Given the description of an element on the screen output the (x, y) to click on. 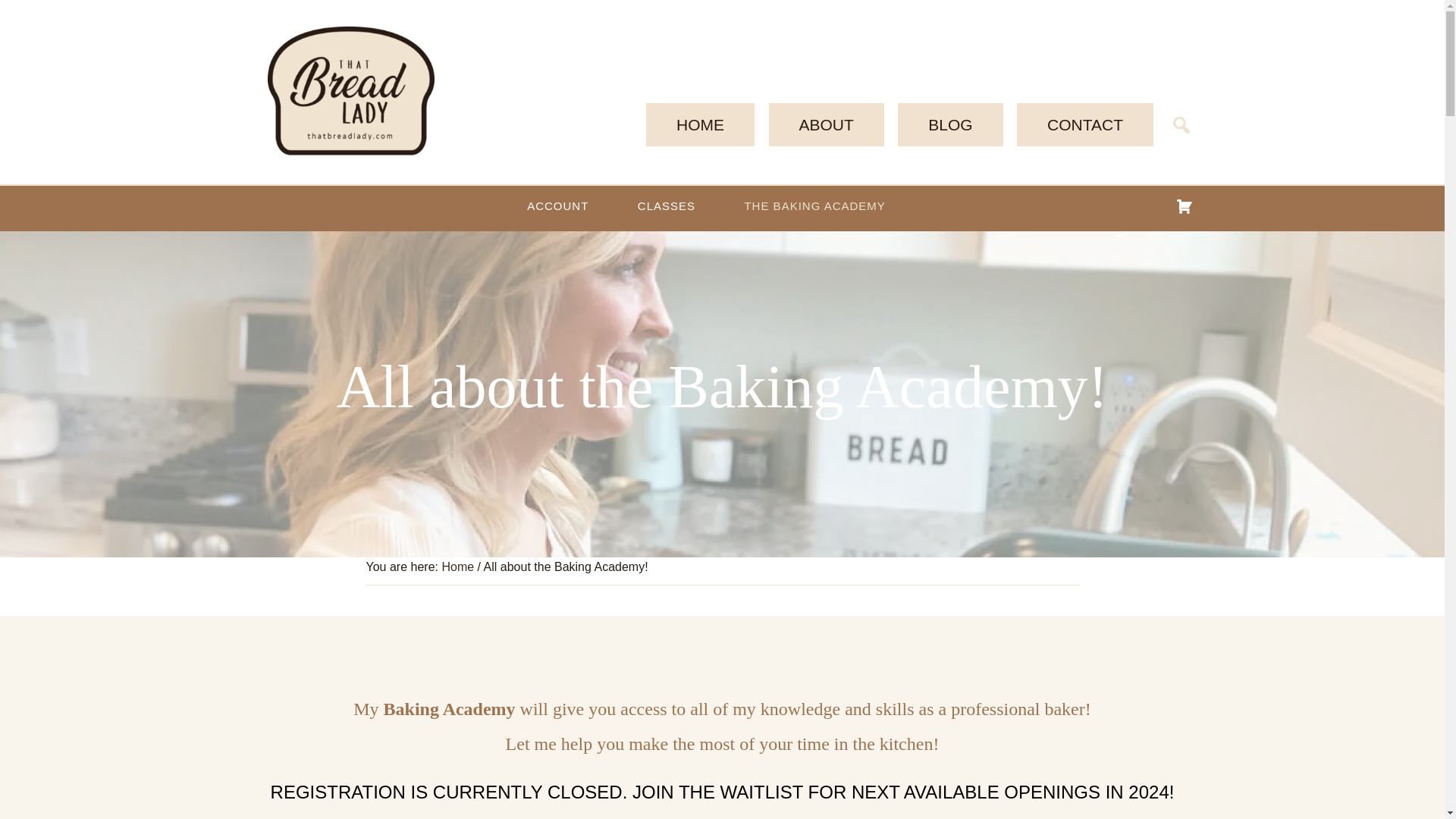
CONTACT (1084, 124)
ACCOUNT (557, 205)
CLASSES (666, 205)
HOME (700, 124)
Home (457, 566)
THE BAKING ACADEMY (814, 205)
BLOG (950, 124)
ABOUT (825, 124)
View your shopping cart (1183, 206)
